Given the description of an element on the screen output the (x, y) to click on. 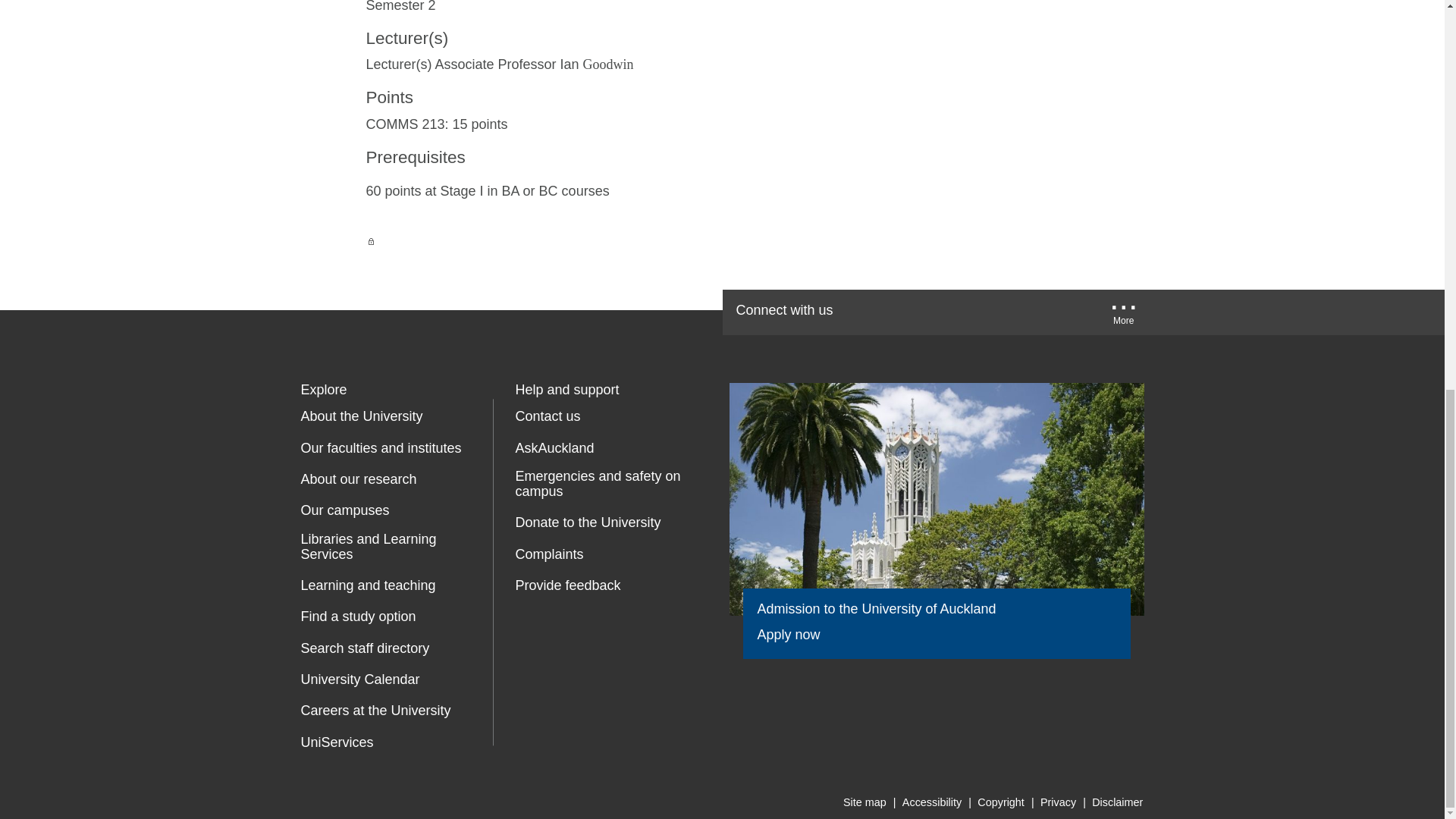
Twitter (925, 312)
University of Auckland More Social... (1123, 316)
LinkedIn (1021, 312)
Admission to the University of Auckland (935, 499)
Apply now (798, 634)
Facebook (876, 312)
Women's Refuge (528, 650)
YouTube (972, 312)
Instagram (1069, 312)
